Given the description of an element on the screen output the (x, y) to click on. 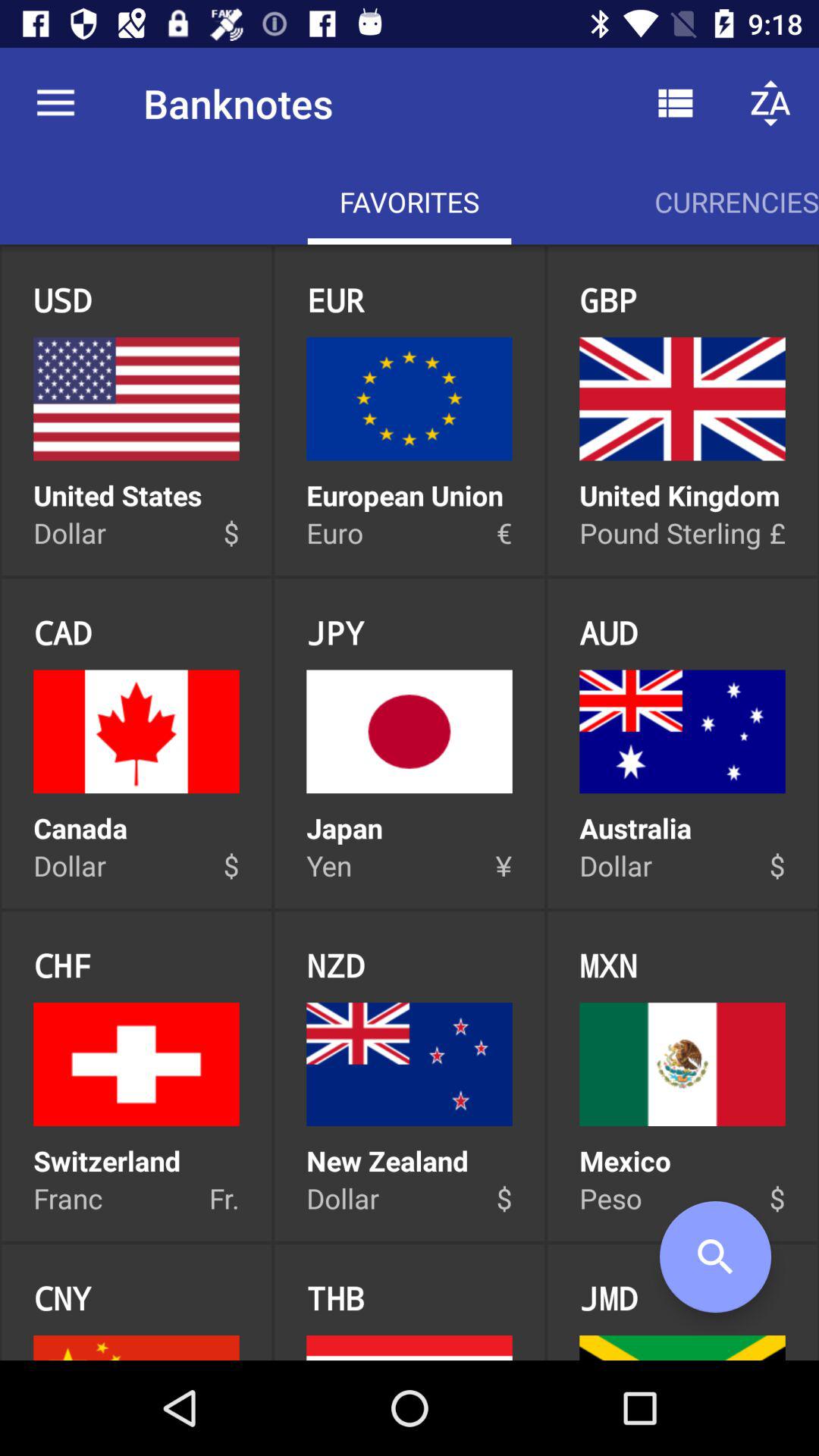
choose the icon to the right of banknotes icon (675, 103)
